Given the description of an element on the screen output the (x, y) to click on. 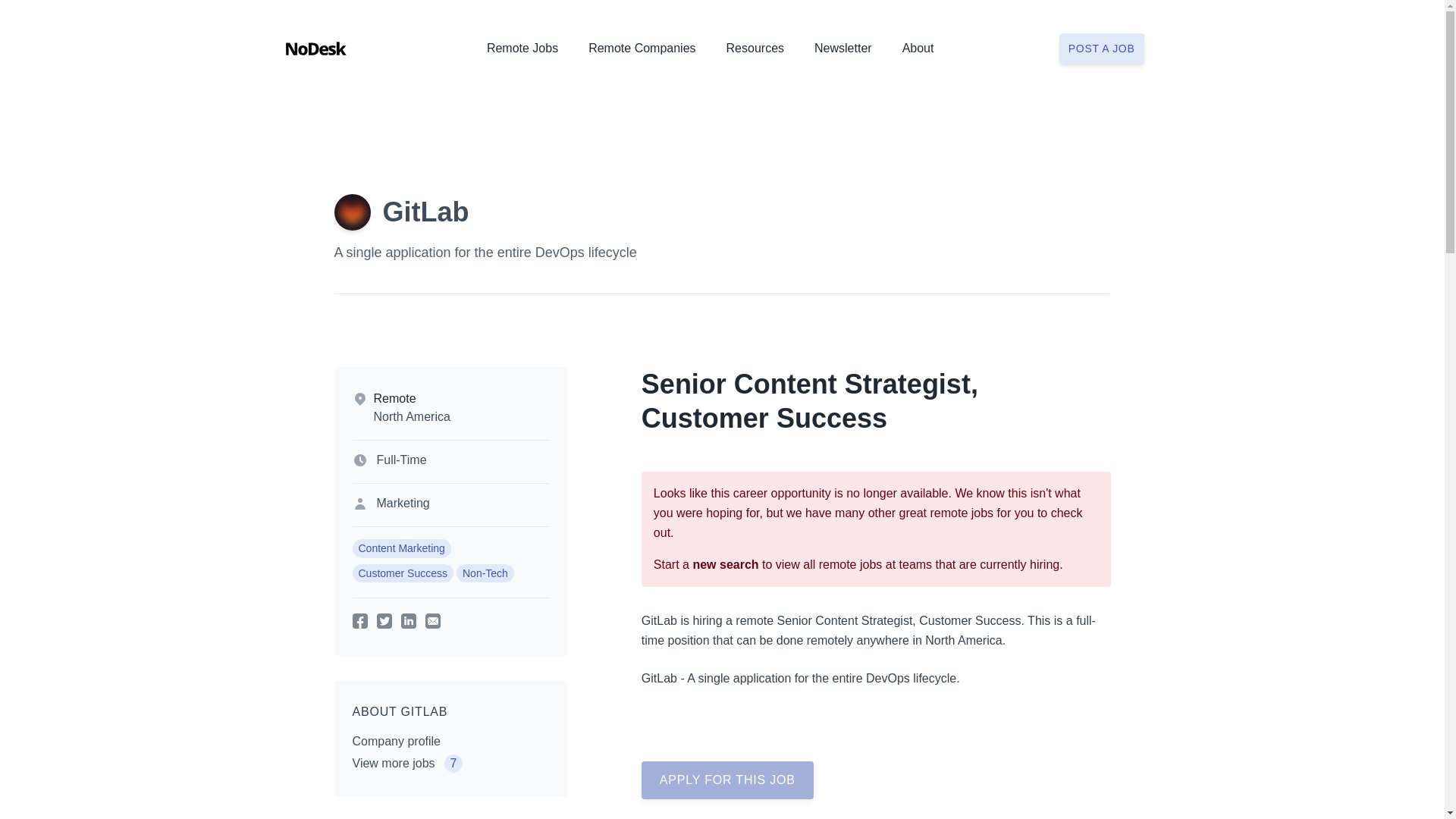
Remote Jobs (521, 51)
North America (410, 417)
Content Marketing (400, 547)
Twitter (383, 620)
Marketing (402, 503)
Non-Tech (485, 573)
Full-Time (400, 459)
About (918, 51)
Remote Companies (641, 51)
GitLab (424, 211)
Newsletter (842, 51)
LinkedIn (407, 620)
View more jobs 7 (407, 763)
Email (432, 620)
Facebook (359, 620)
